Given the description of an element on the screen output the (x, y) to click on. 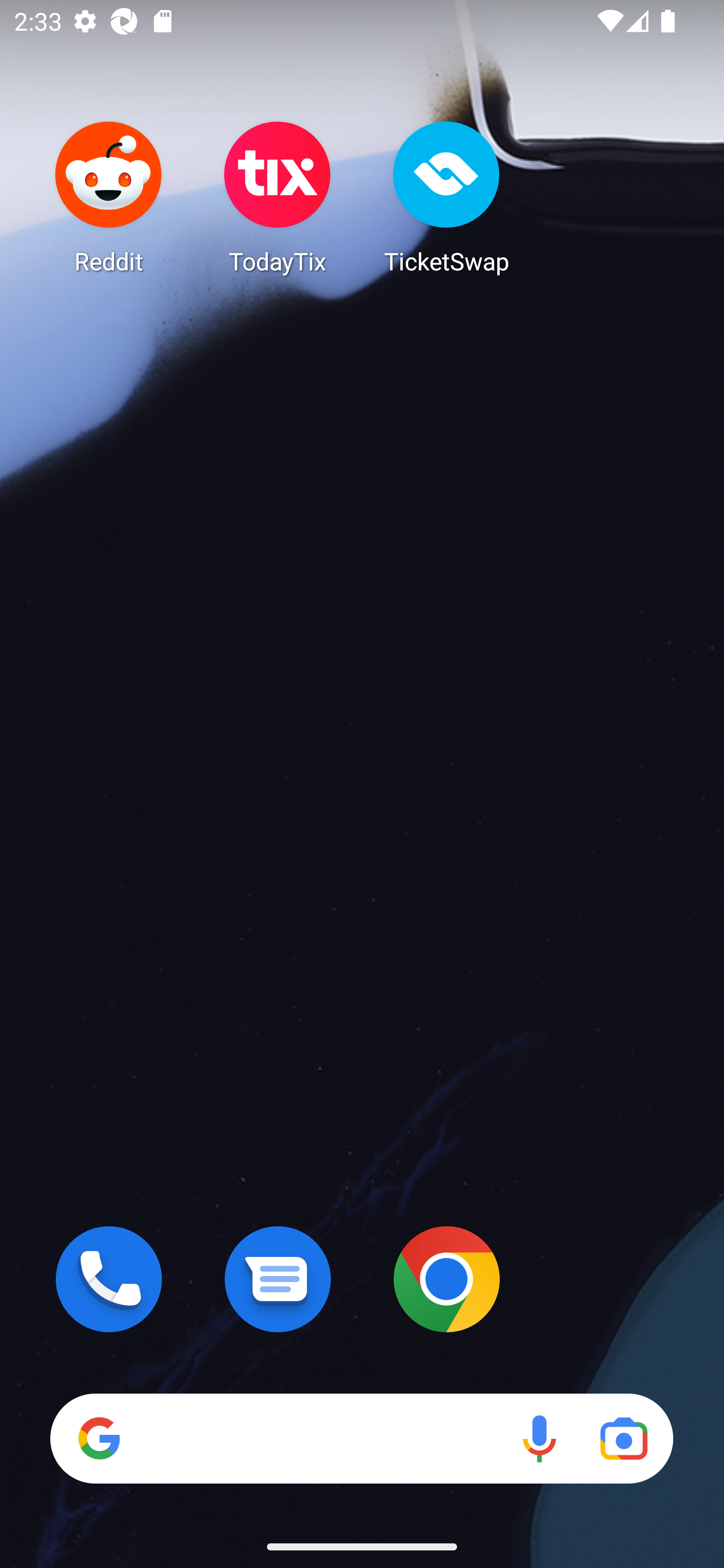
Reddit (108, 196)
TodayTix (277, 196)
TicketSwap (445, 196)
Phone (108, 1279)
Messages (277, 1279)
Chrome (446, 1279)
Voice search (539, 1438)
Google Lens (623, 1438)
